Given the description of an element on the screen output the (x, y) to click on. 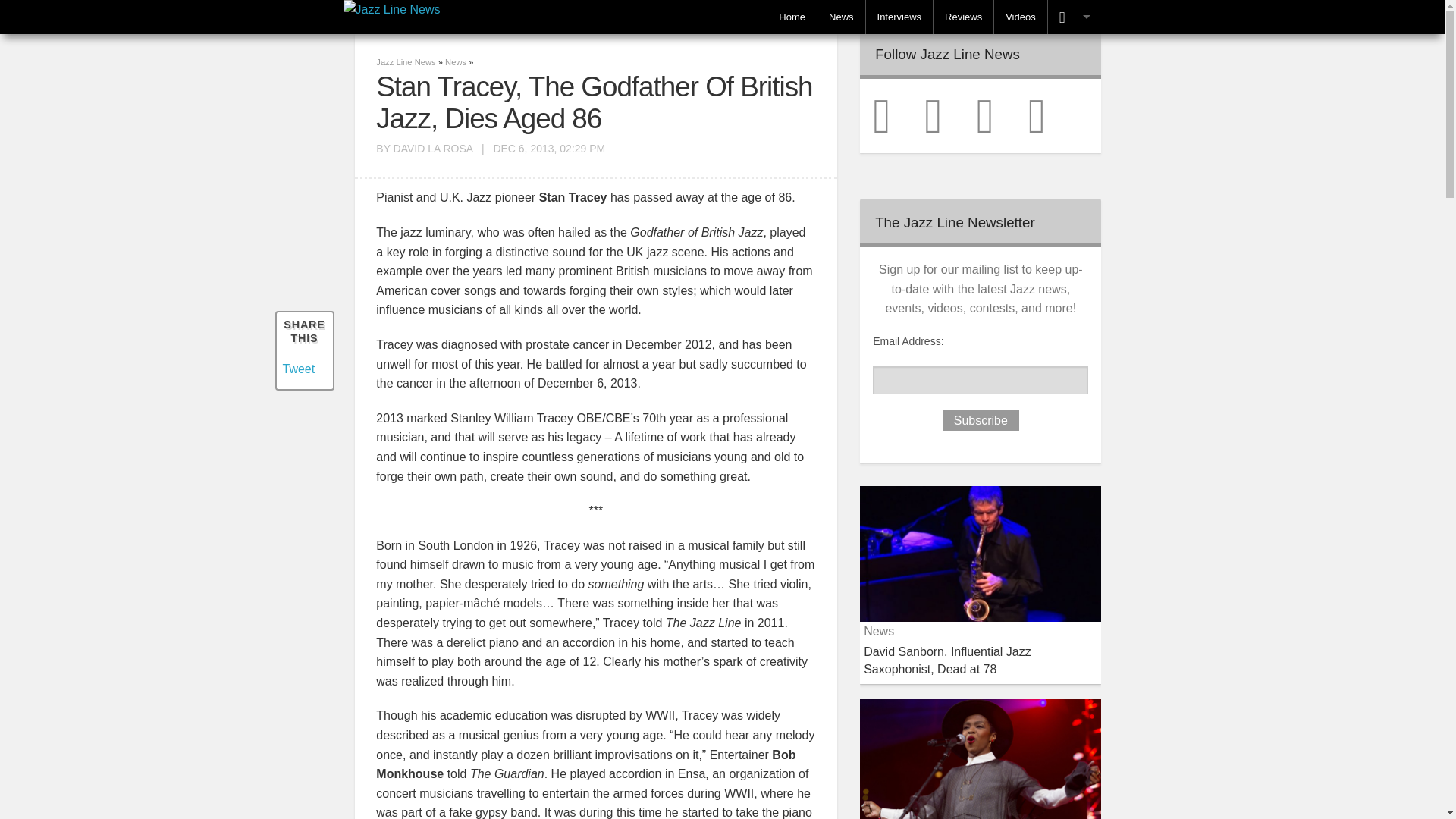
Videos (1020, 17)
Posts by David La Rosa (433, 148)
Subscribe (980, 420)
Subscribe (980, 420)
Jazz News on Twitter (896, 114)
Search (1248, 69)
Tweet (298, 368)
Jazz Videos (1020, 17)
Search... (1142, 69)
Interviews (899, 17)
